Given the description of an element on the screen output the (x, y) to click on. 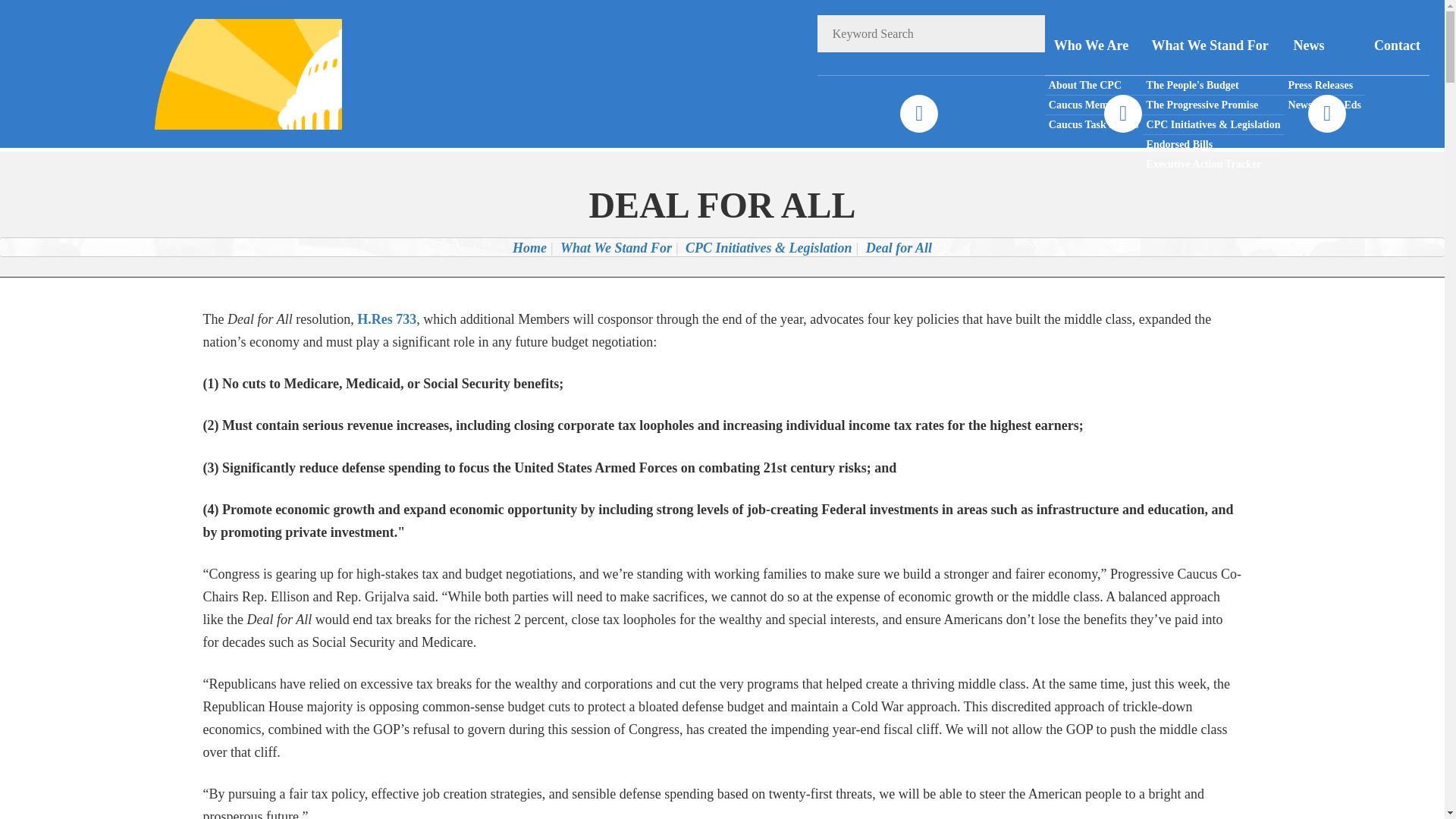
What We Stand For (1213, 45)
Caucus Task Forces (1093, 124)
YouTube (1326, 113)
About The CPC (1093, 85)
Facebook (918, 113)
Executive Action Tracker (1213, 163)
Deal for All (898, 247)
Who We Are (1093, 45)
Home (529, 247)
CONGRESSIONAL PROGRESSIVE CAUCUS (228, 73)
Contact (1397, 45)
Press Releases (1324, 85)
H.Res 733 (386, 319)
The Progressive Promise (1213, 105)
Caucus Members (1093, 105)
